Given the description of an element on the screen output the (x, y) to click on. 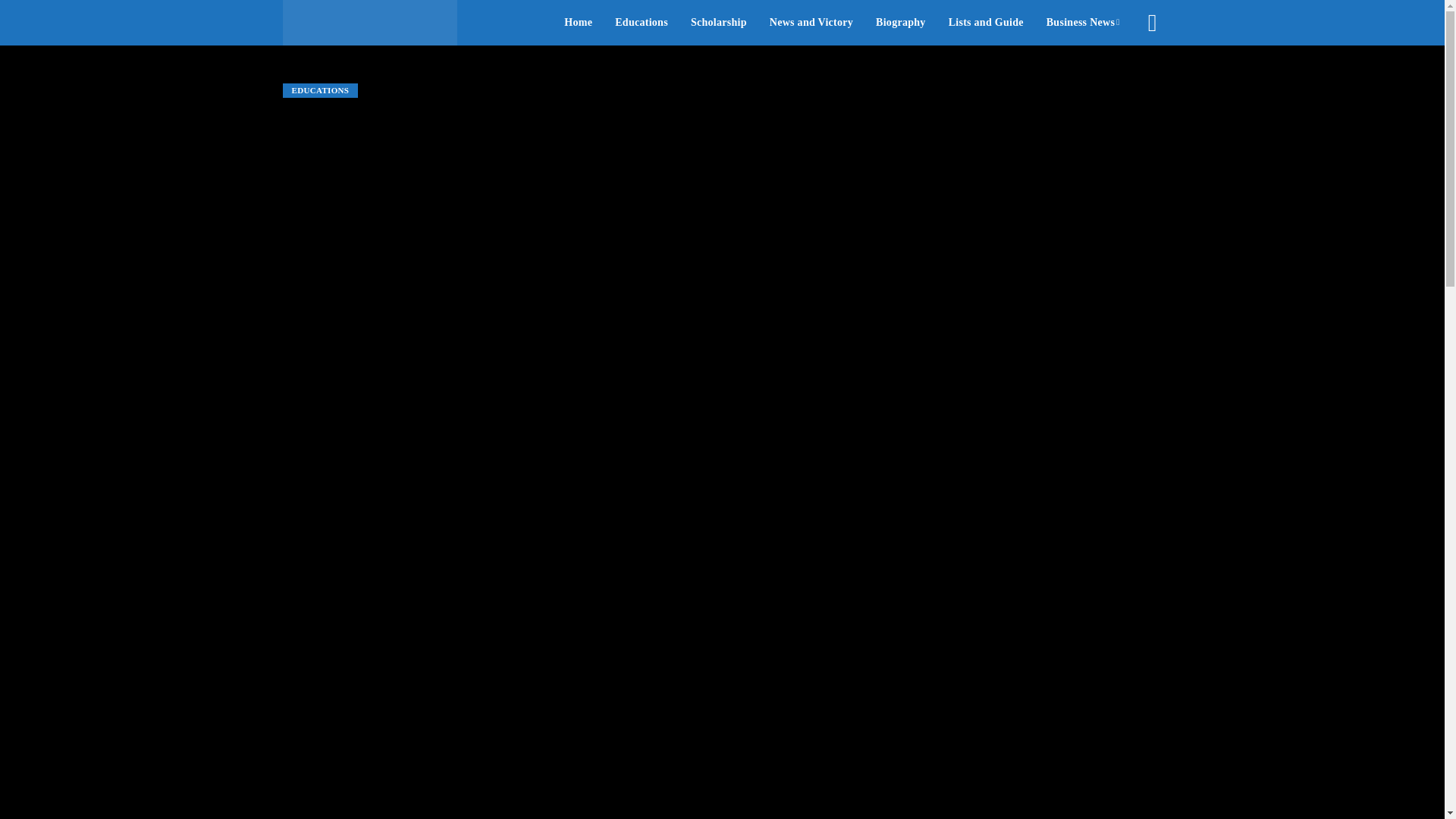
News and Victory (811, 22)
Morenewsonline (369, 22)
Scholarship (718, 22)
Educations (641, 22)
Home (578, 22)
